Given the description of an element on the screen output the (x, y) to click on. 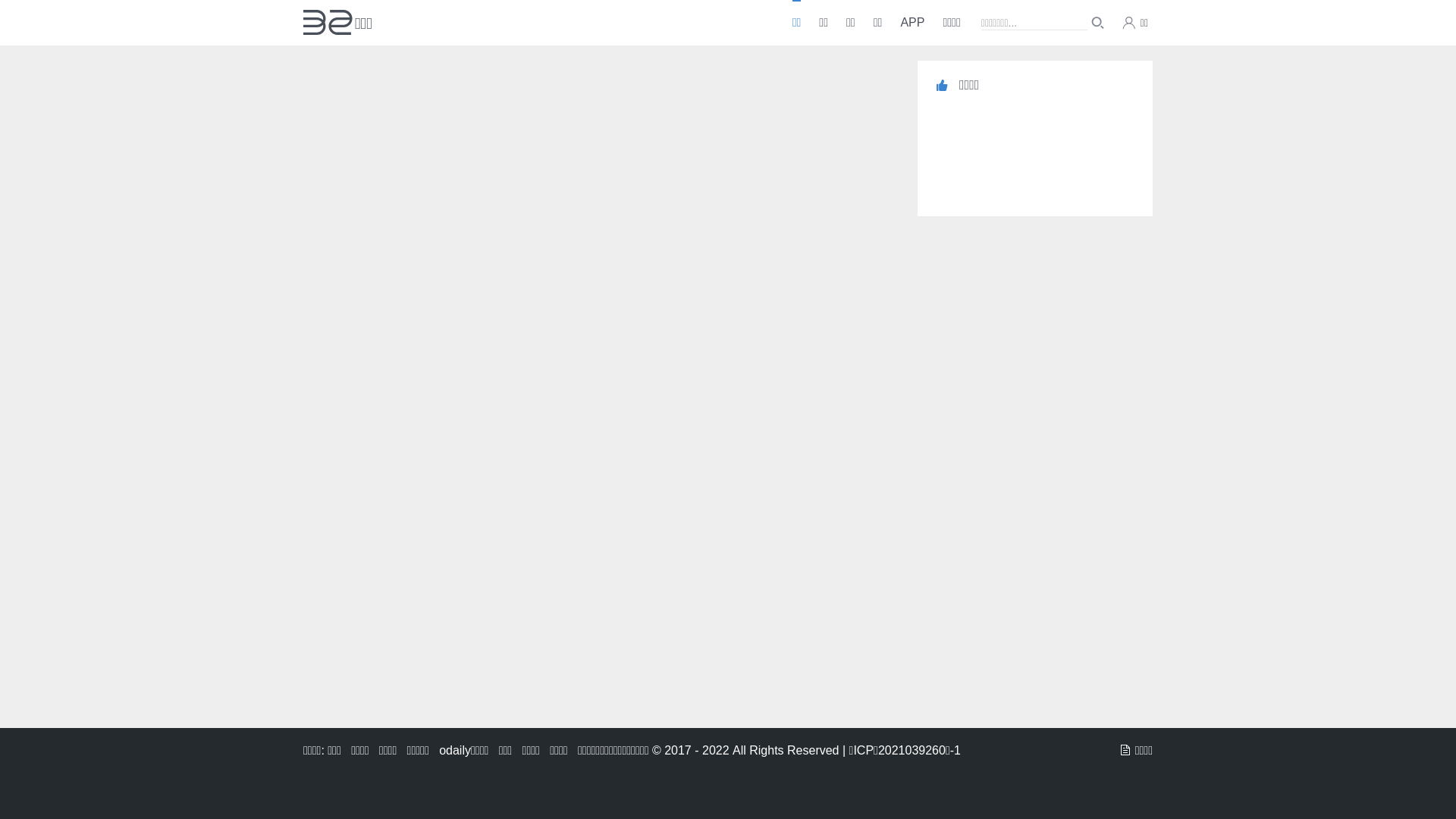
APP Element type: text (912, 9)
